Given the description of an element on the screen output the (x, y) to click on. 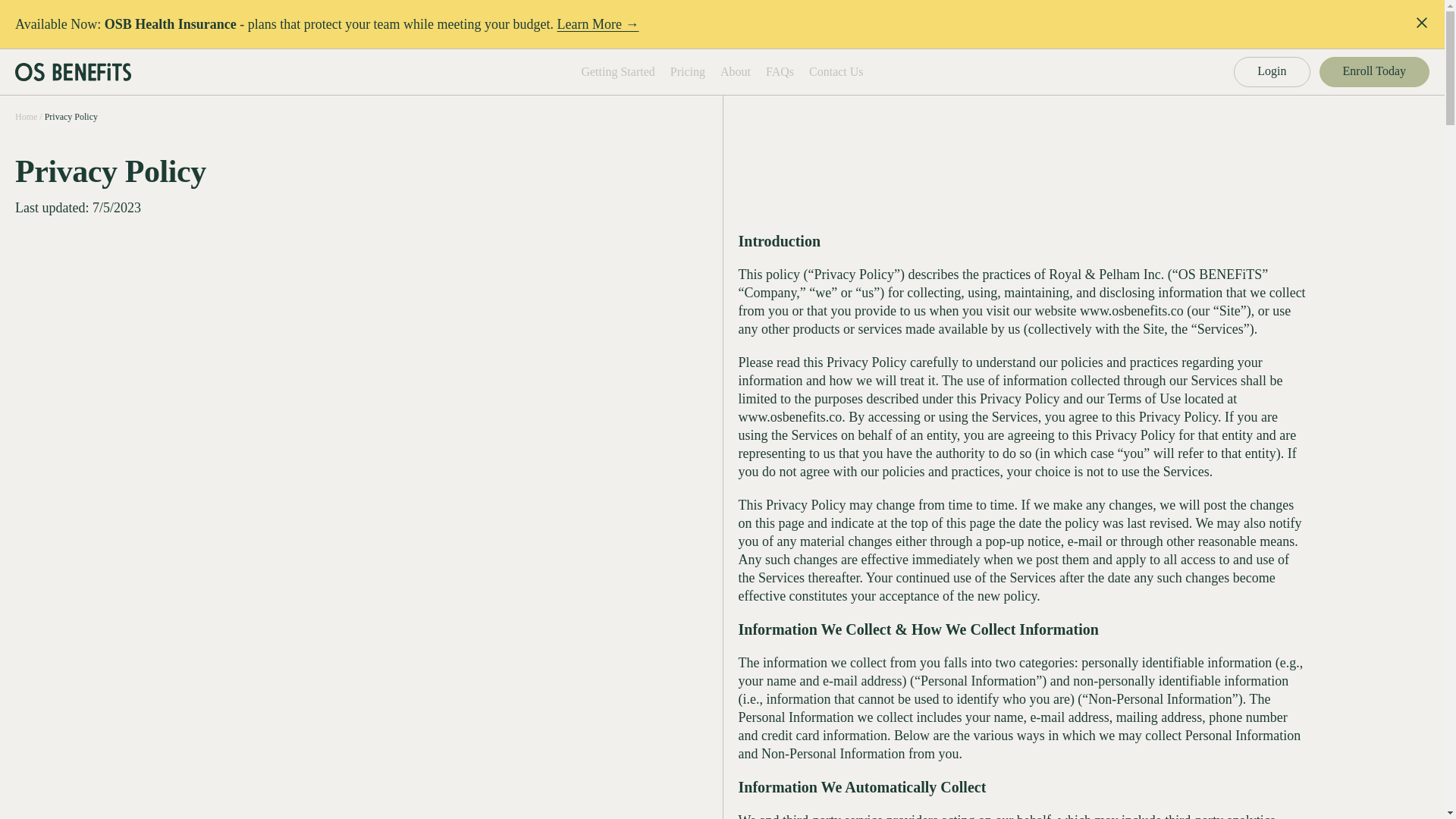
Login (1270, 71)
Contact Us (836, 71)
FAQs (779, 71)
Pricing (686, 71)
About (735, 71)
Enroll Today (1374, 71)
Home (29, 116)
Getting Started (616, 71)
